Given the description of an element on the screen output the (x, y) to click on. 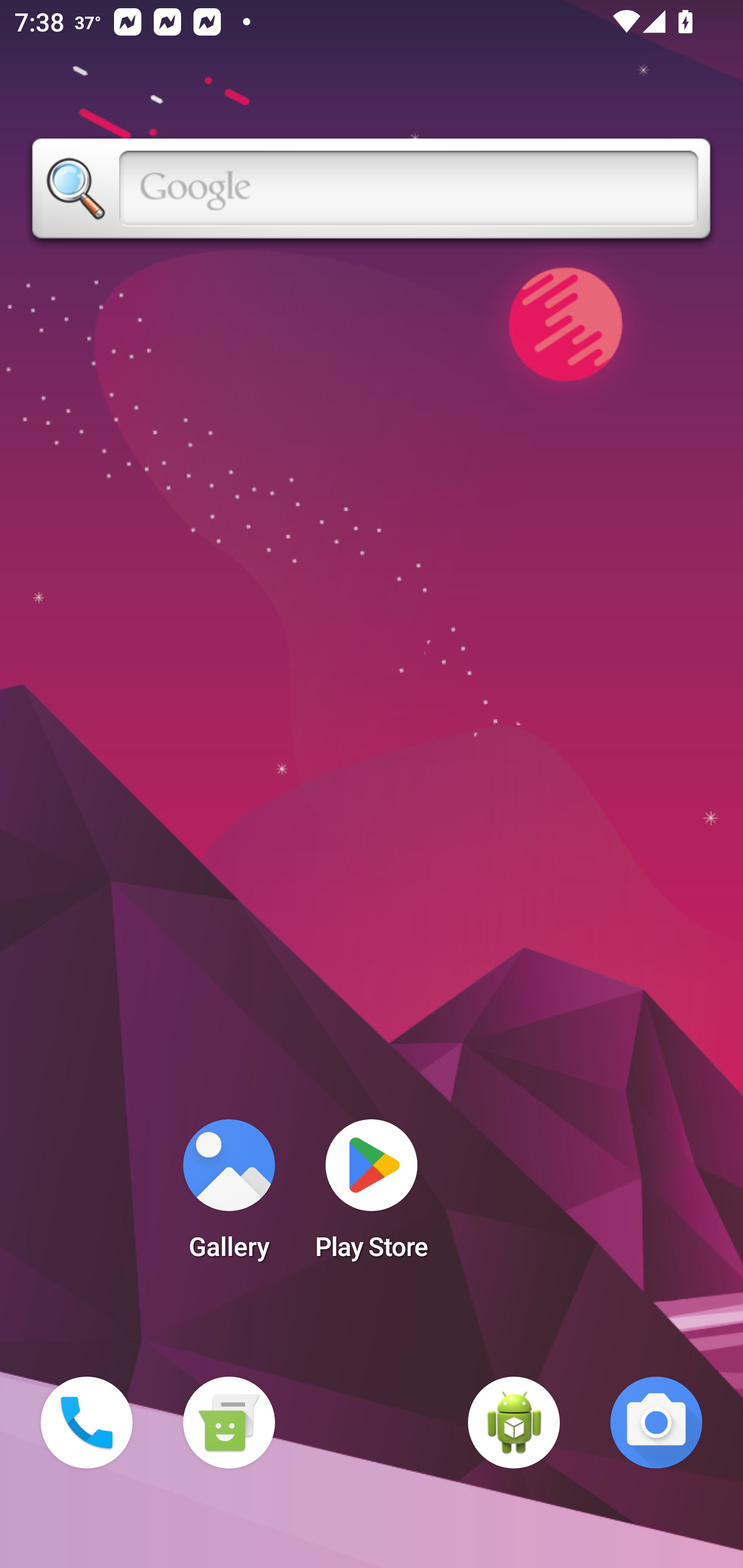
Gallery (228, 1195)
Play Store (371, 1195)
Phone (86, 1422)
Messaging (228, 1422)
WebView Browser Tester (513, 1422)
Camera (656, 1422)
